Given the description of an element on the screen output the (x, y) to click on. 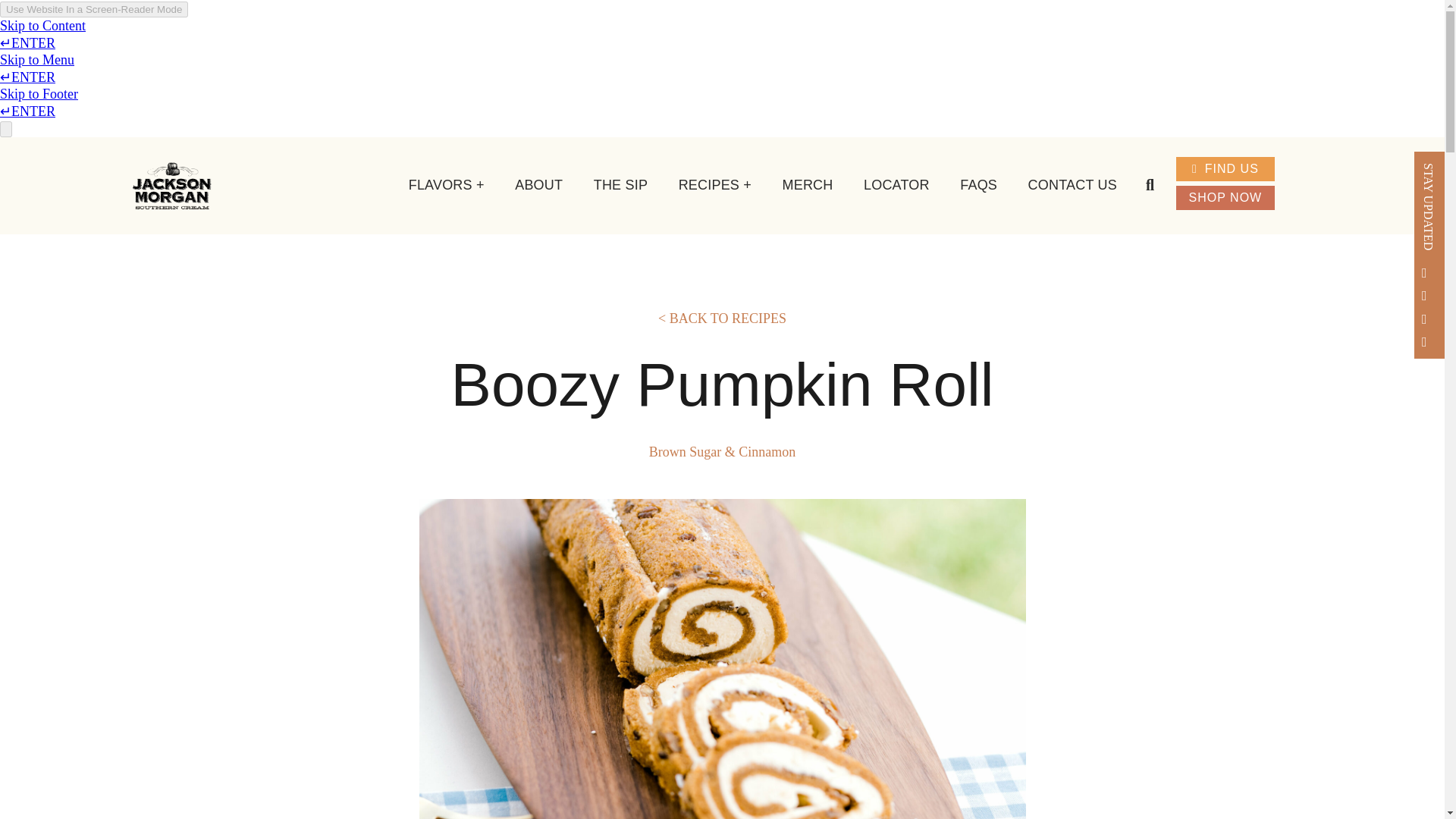
ABOUT (538, 185)
SHOP NOW (1225, 197)
FAQS (978, 185)
LOCATOR (896, 185)
FIND US (1225, 168)
THE SIP (620, 185)
MERCH (806, 185)
CONTACT US (1071, 185)
